Given the description of an element on the screen output the (x, y) to click on. 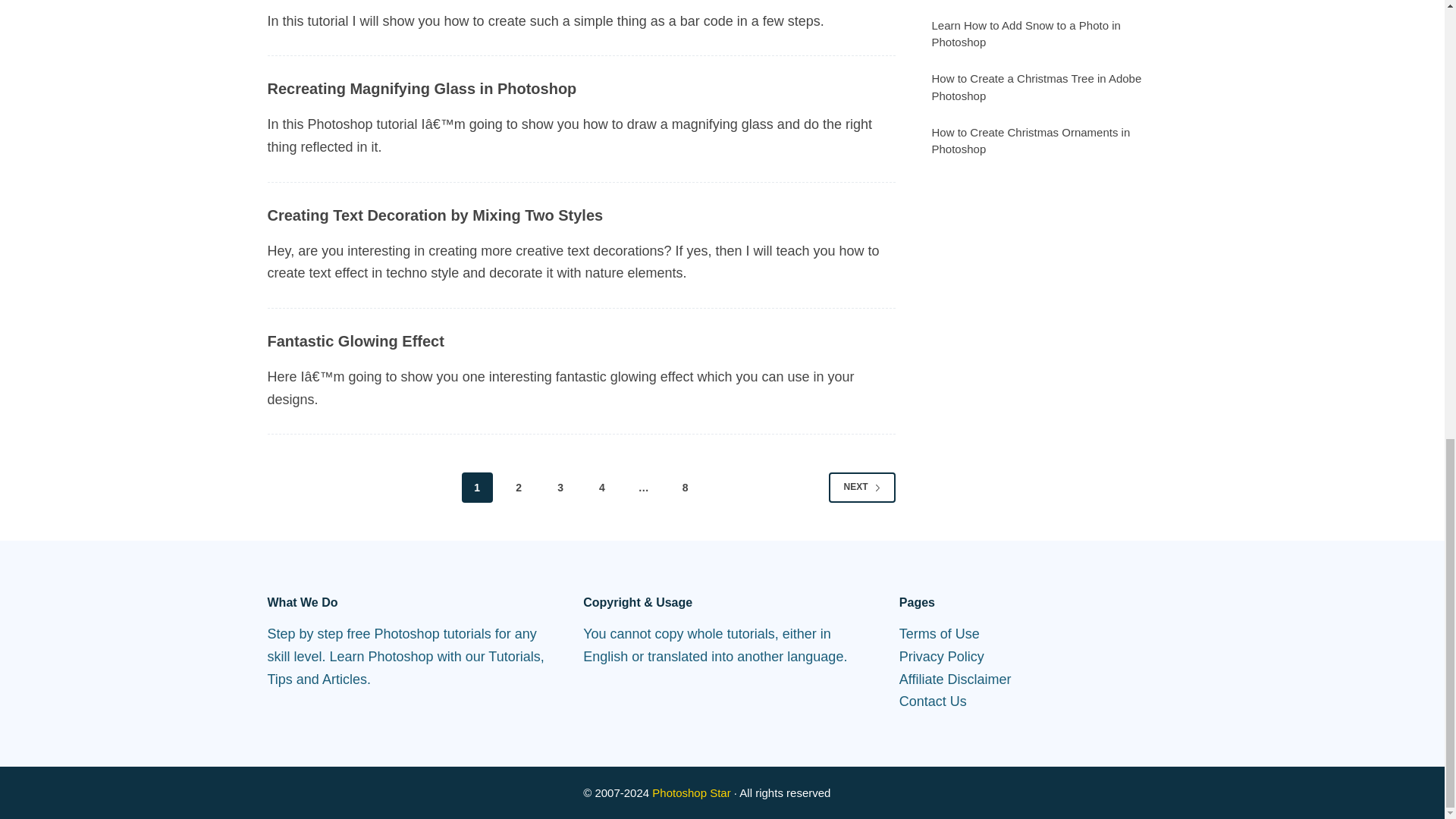
3 (560, 487)
Creating Text Decoration by Mixing Two Styles (434, 215)
How to Create Christmas Ornaments in Photoshop (1030, 141)
NEXT (861, 487)
4 (601, 487)
Recreating Magnifying Glass in Photoshop (421, 88)
8 (684, 487)
2 (518, 487)
Fantastic Glowing Effect (355, 340)
How to Create a Christmas Tree in Adobe Photoshop (1036, 87)
Learn How to Add Snow to a Photo in Photoshop (1025, 33)
